Given the description of an element on the screen output the (x, y) to click on. 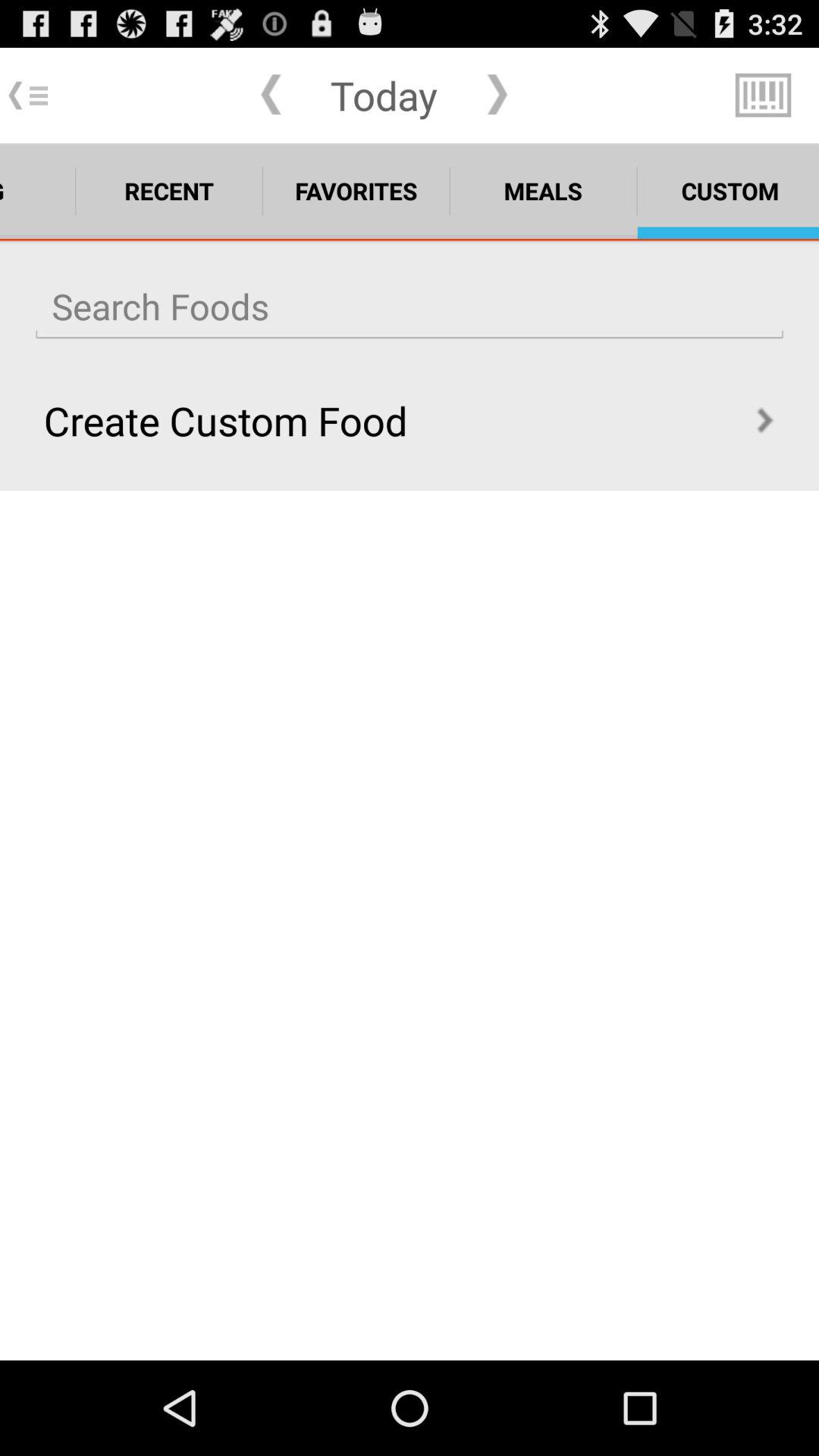
click today app (383, 94)
